Given the description of an element on the screen output the (x, y) to click on. 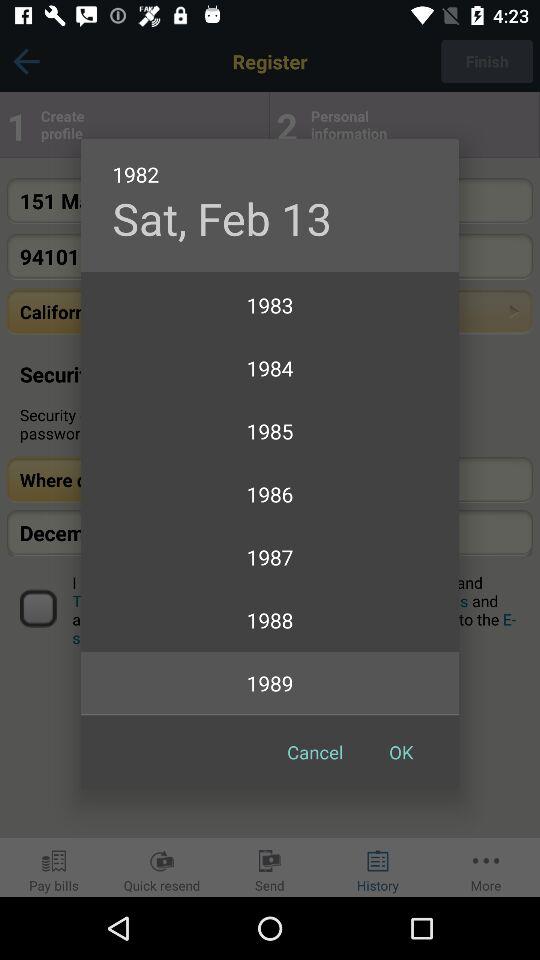
press app below 1982 icon (221, 218)
